Given the description of an element on the screen output the (x, y) to click on. 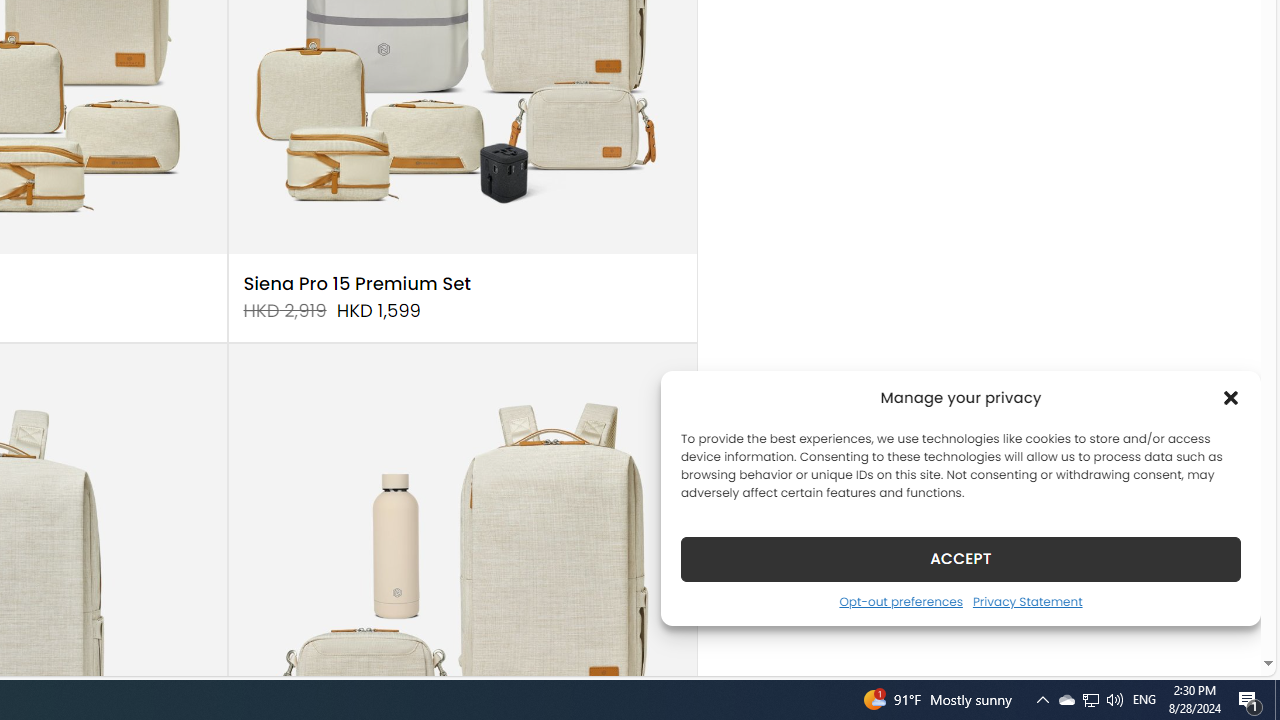
ACCEPT (960, 558)
Privacy Statement (1026, 601)
Opt-out preferences (900, 601)
Siena Pro 15 Premium Set (357, 283)
Class: cmplz-close (1231, 397)
